Given the description of an element on the screen output the (x, y) to click on. 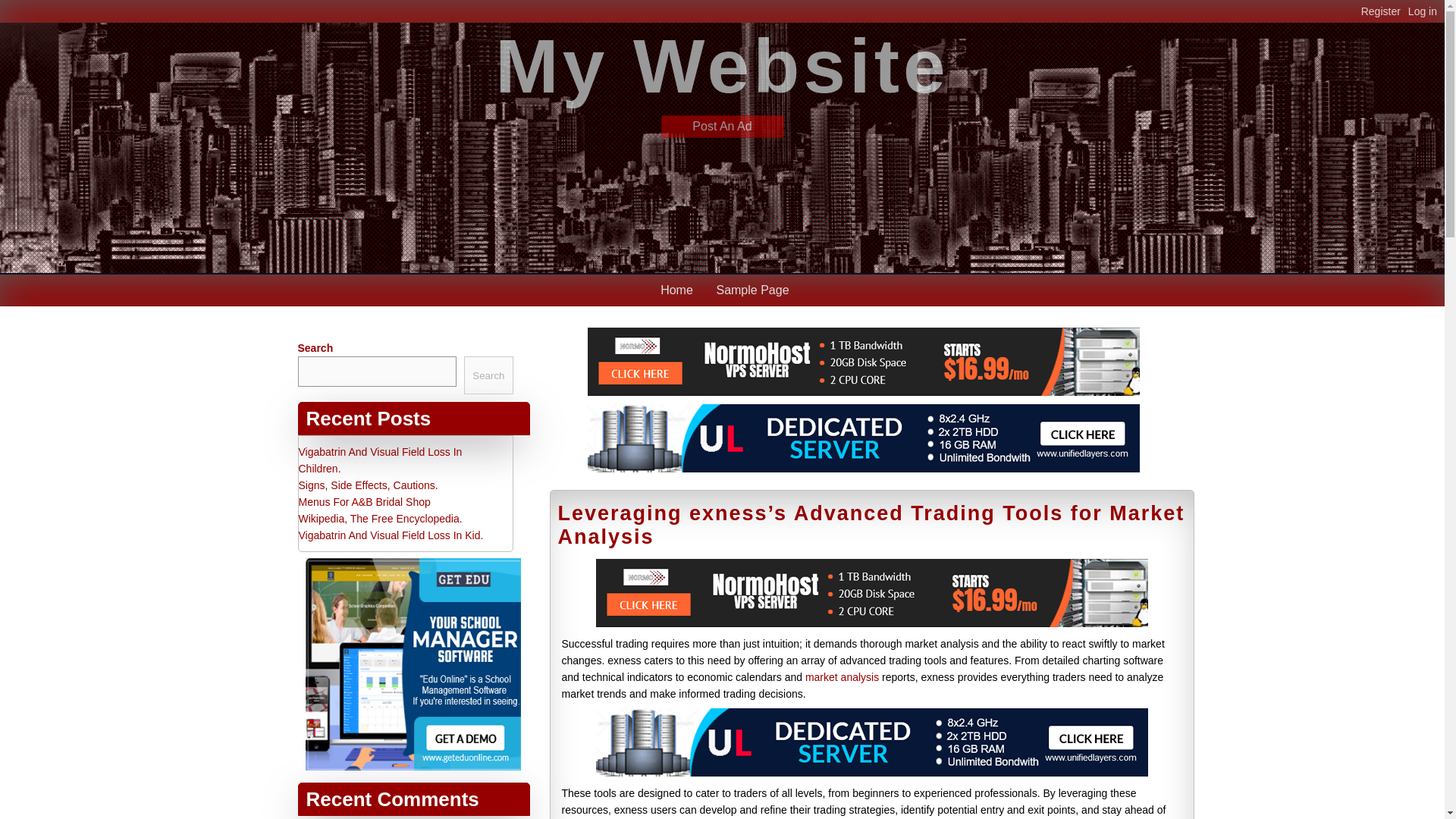
Wikipedia, The Free Encyclopedia. (380, 518)
Home (676, 290)
Post An Ad (722, 125)
market analysis (842, 676)
Vigabatrin And Visual Field Loss In Children. (380, 460)
Register (1384, 10)
Sample Page (751, 290)
Search (488, 374)
Signs, Side Effects, Cautions. (368, 485)
Vigabatrin And Visual Field Loss In Kid. (390, 535)
